Given the description of an element on the screen output the (x, y) to click on. 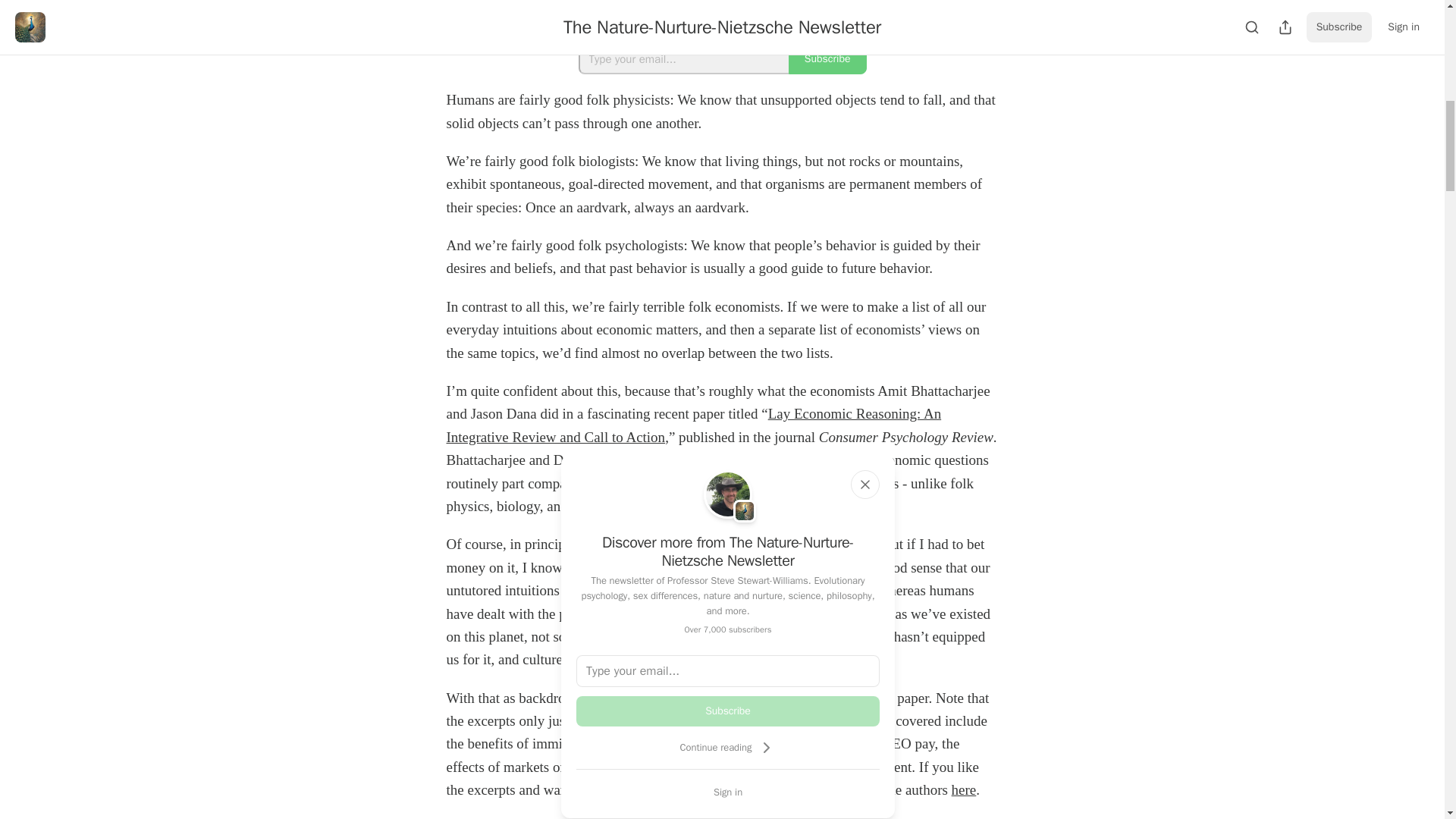
Sign in (727, 791)
Subscribe (727, 711)
here (964, 789)
Subscribe (827, 59)
Share (722, 14)
